Given the description of an element on the screen output the (x, y) to click on. 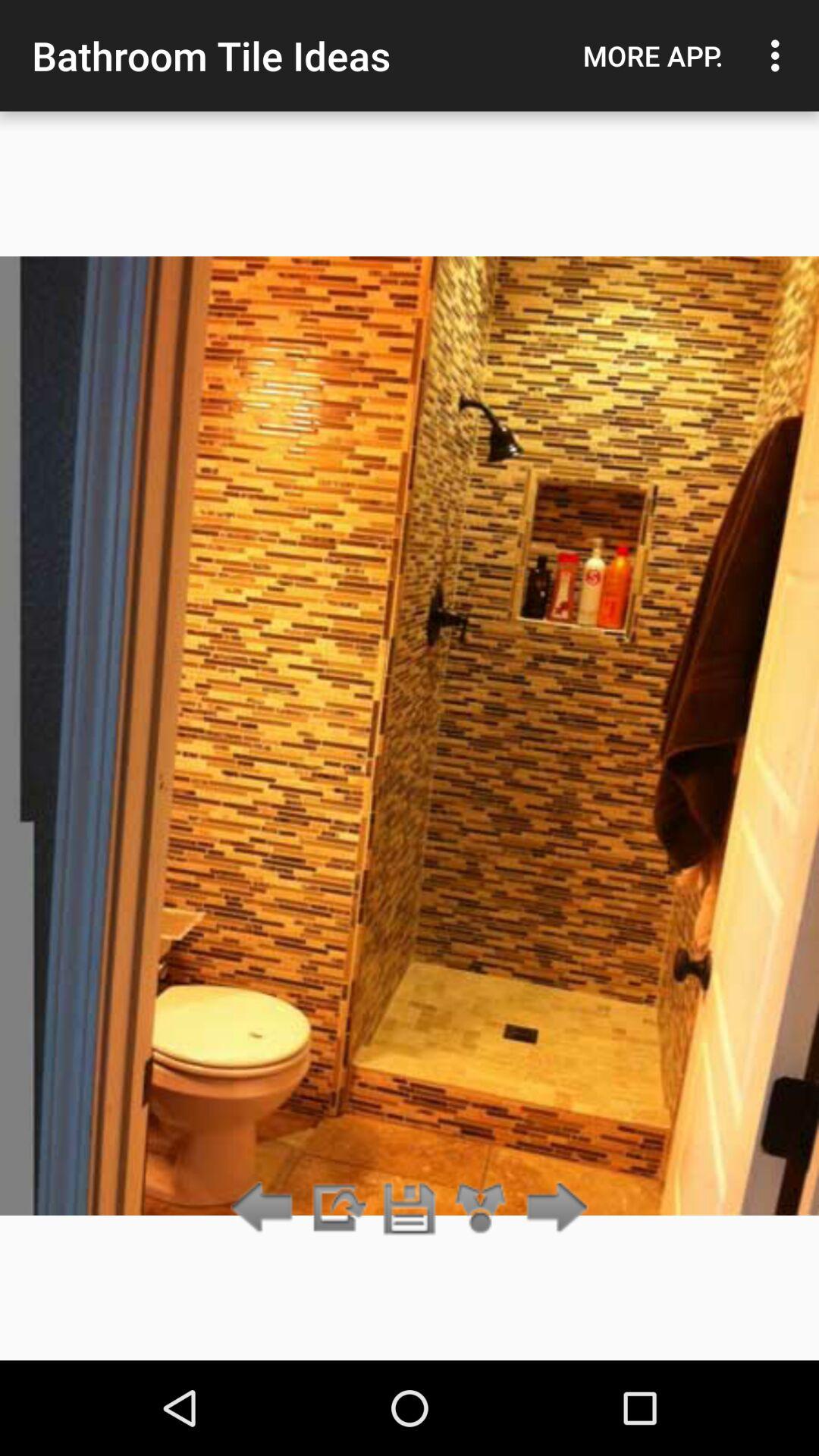
share to others (480, 1208)
